Given the description of an element on the screen output the (x, y) to click on. 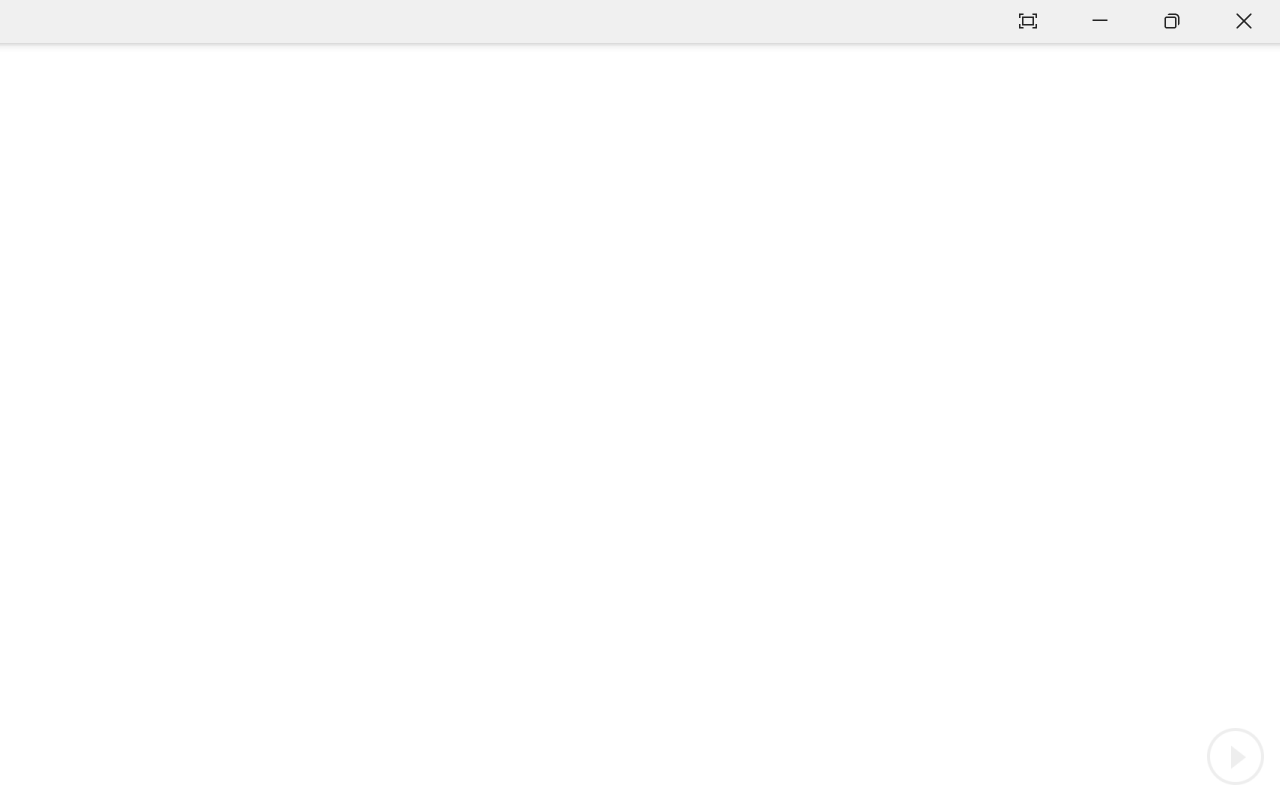
Auto-hide Reading Toolbar (1027, 21)
